Given the description of an element on the screen output the (x, y) to click on. 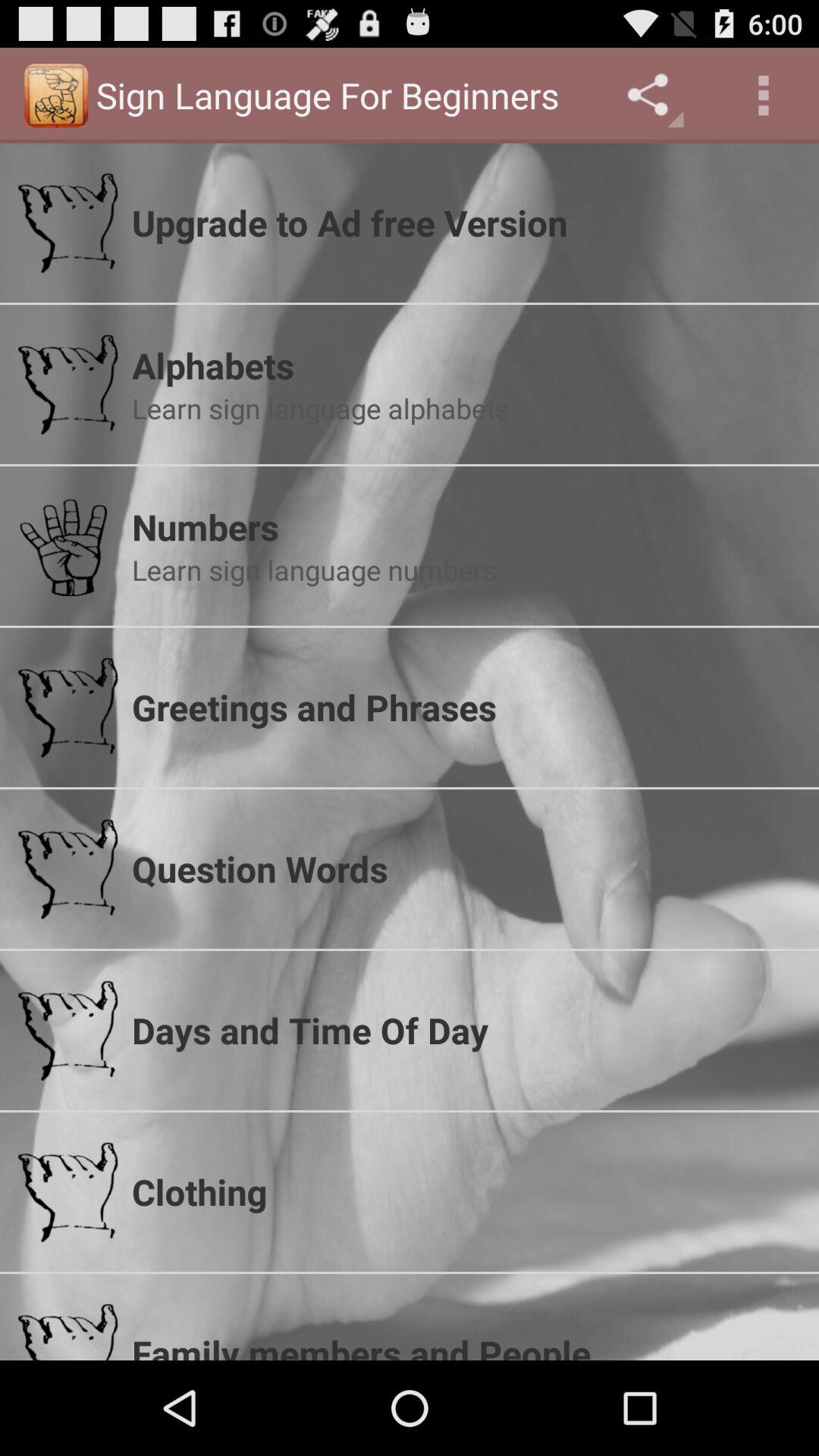
turn off the question words icon (465, 868)
